Given the description of an element on the screen output the (x, y) to click on. 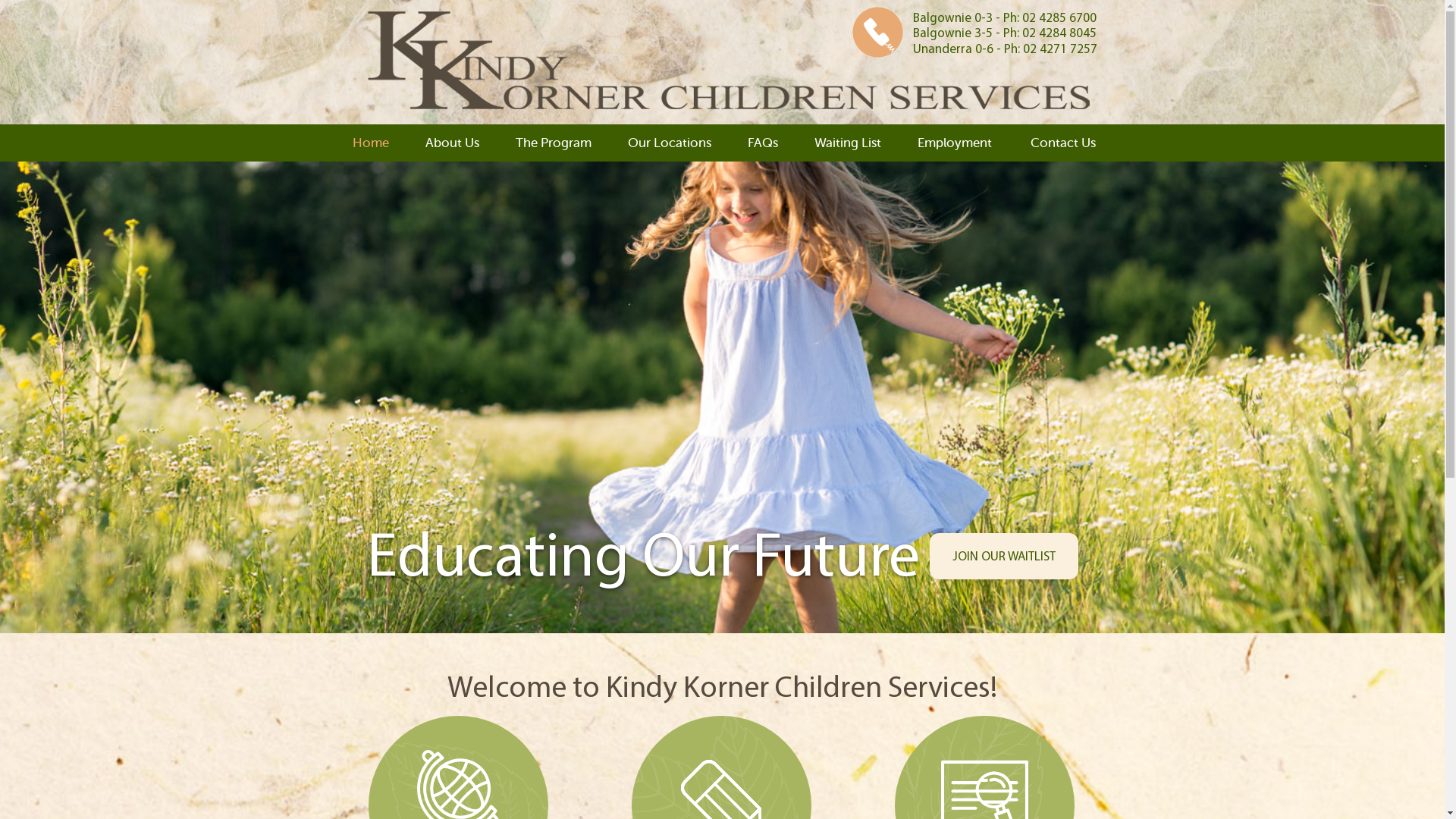
About Us Element type: text (451, 143)
Balgownie 0-3 - Ph: 02 4285 6700 Element type: text (1004, 17)
Employment Element type: text (954, 143)
Contact Us Element type: text (1062, 143)
Our Locations Element type: text (669, 143)
Waiting List Element type: text (847, 143)
JOIN OUR WAITLIST Element type: text (1003, 556)
The Program Element type: text (553, 143)
Home Element type: text (369, 143)
FAQs Element type: text (762, 143)
Unanderra 0-6 - Ph: 02 4271 7257 Element type: text (1005, 48)
Balgownie 3-5 - Ph: 02 4284 8045 Element type: text (1004, 32)
